Given the description of an element on the screen output the (x, y) to click on. 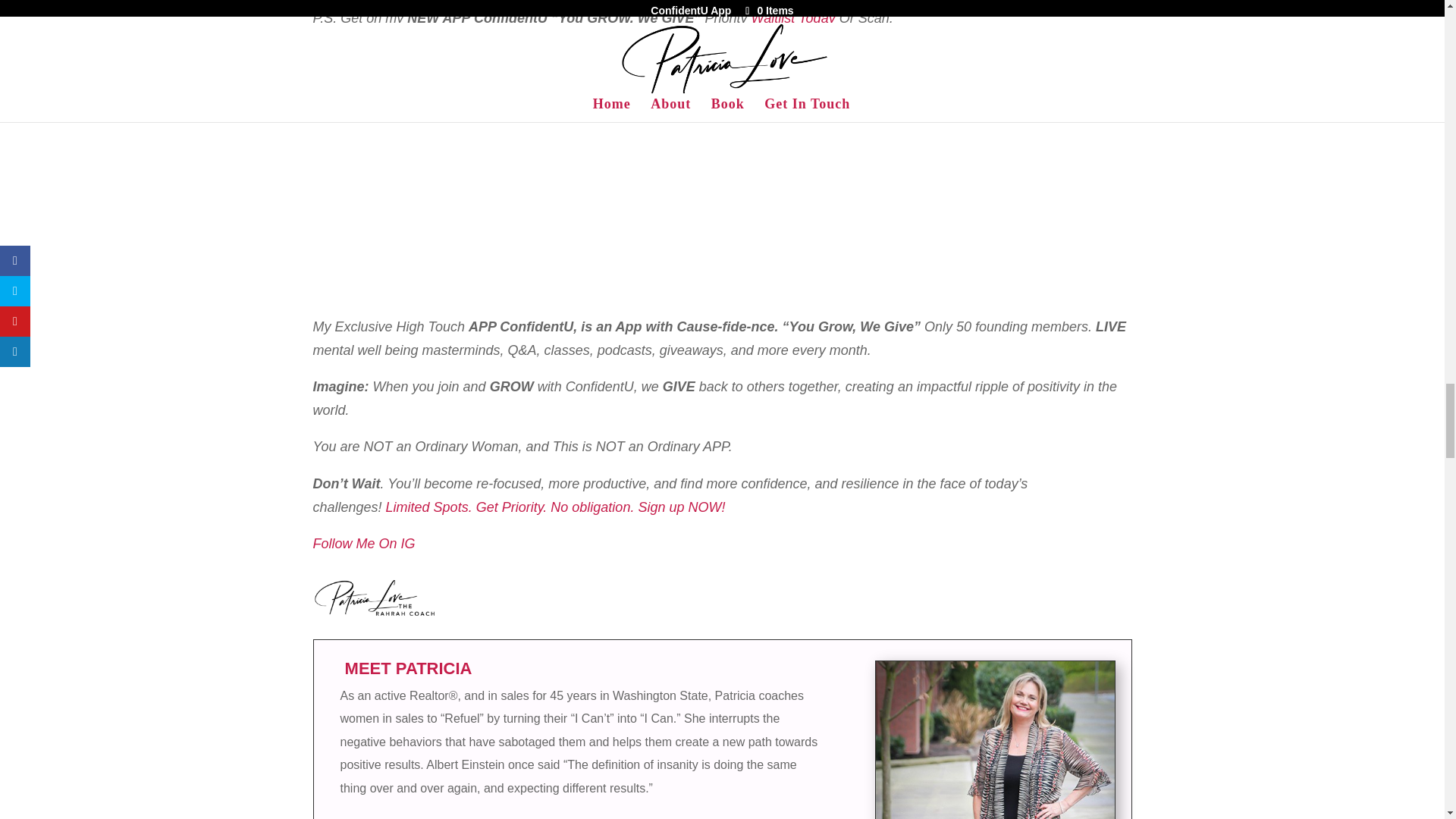
Limited Spots. Get Priority. No obligation. Sign up NOW! (555, 507)
How to listen for your power within (995, 739)
Follow Me On IG (363, 543)
Waitlist Today (793, 17)
